Given the description of an element on the screen output the (x, y) to click on. 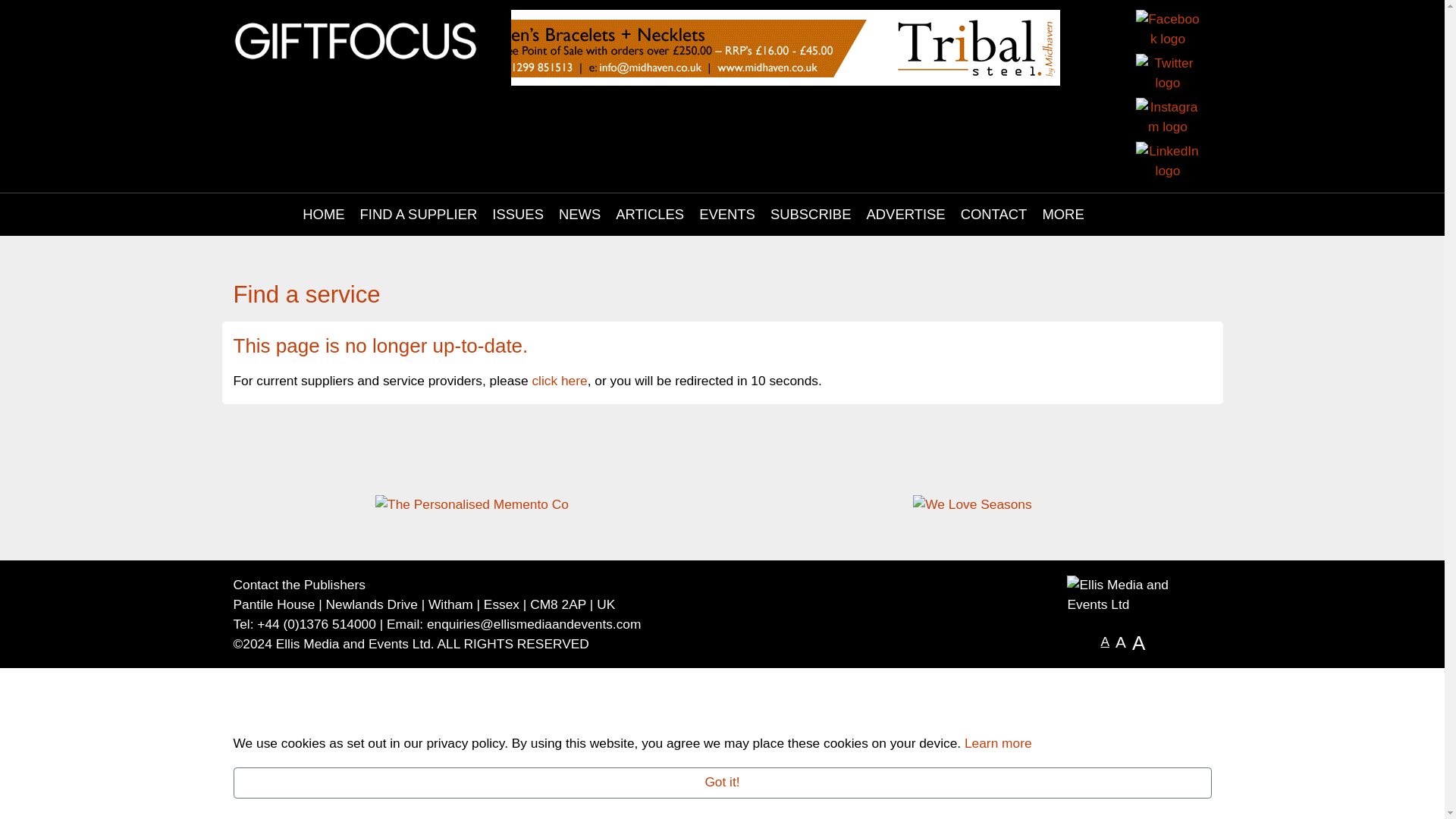
The Personalised Memento Co (472, 503)
HOME (322, 214)
Visit the Ellis Media and Events Ltd website (353, 643)
Follow Gift Focus on Twitter (1167, 74)
FIND A SUPPLIER (418, 214)
Gift Focus (355, 39)
Learn more (997, 743)
search (1120, 214)
Visit the Ellis Media and Events Ltd website (1139, 594)
Got it! (721, 782)
